Given the description of an element on the screen output the (x, y) to click on. 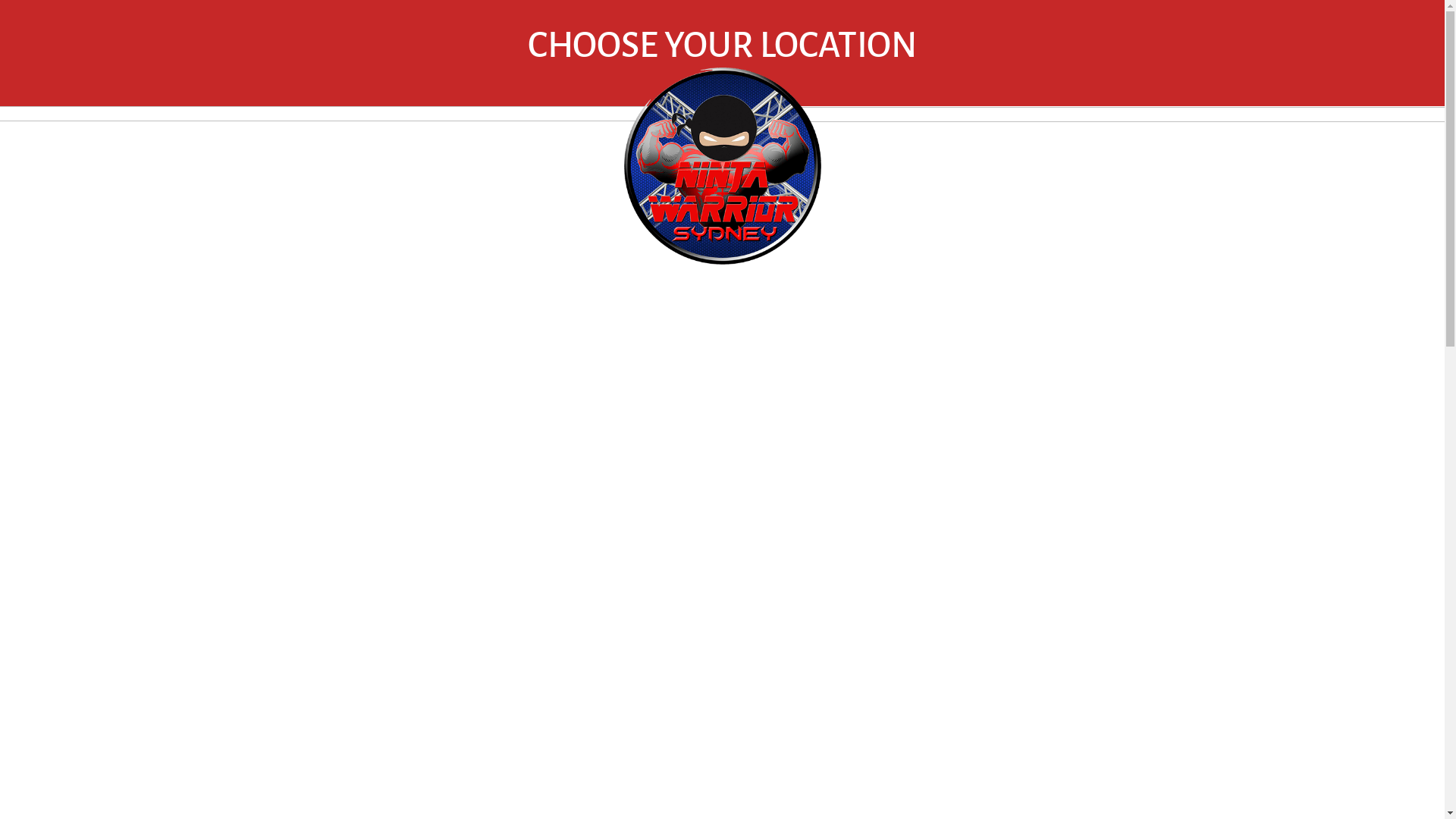
Skip to content Element type: text (0, 0)
